Given the description of an element on the screen output the (x, y) to click on. 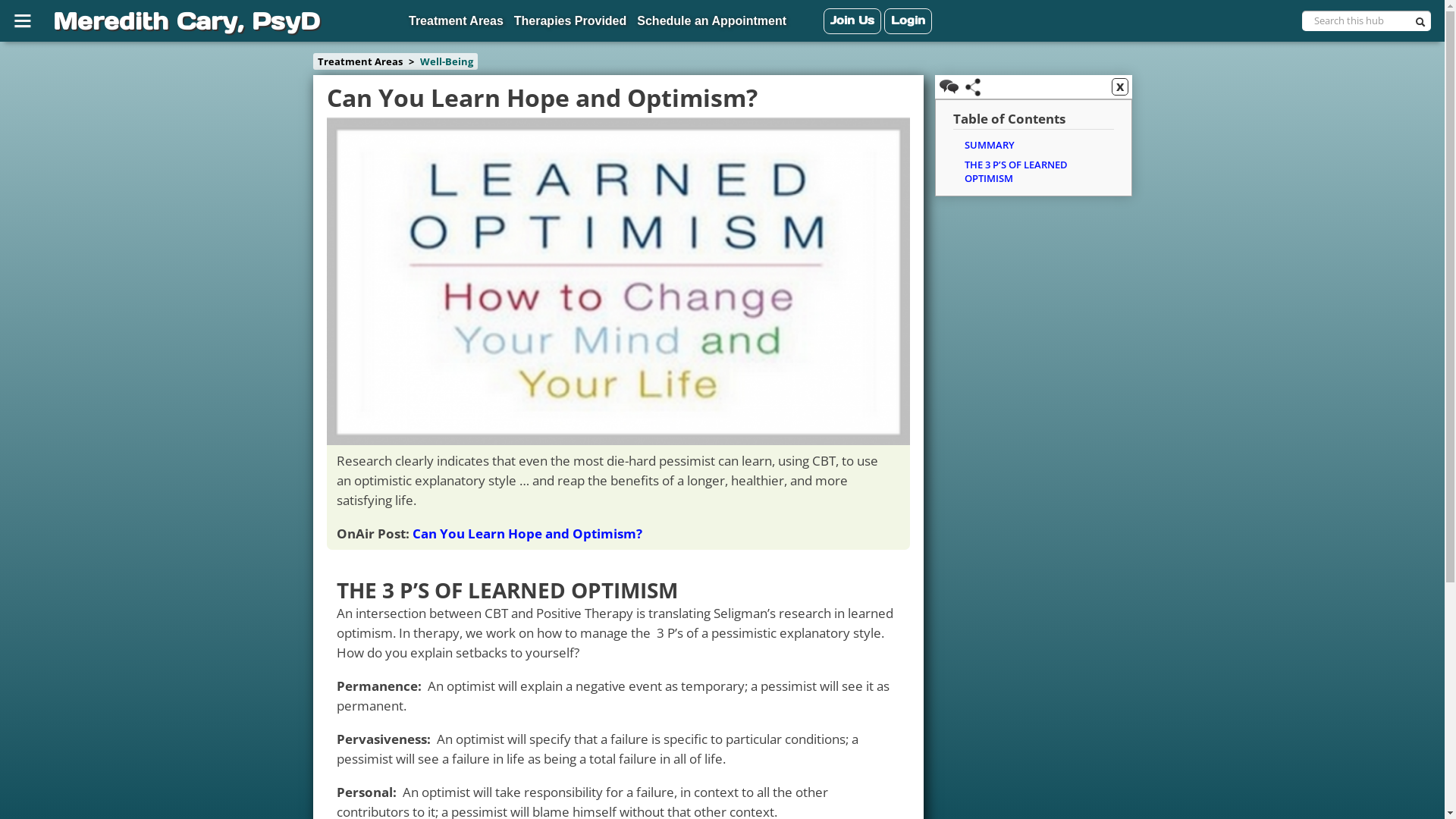
Schedule an Appointment Element type: text (711, 21)
Treatment Areas Element type: text (456, 21)
Well-Being Element type: text (446, 61)
SUMMARY Element type: text (989, 144)
Discuss Element type: hover (947, 86)
Share Post Element type: hover (972, 87)
Meredith Cary, PsyD Element type: text (183, 20)
Therapies Provided Element type: text (570, 21)
Can You Learn Hope and Optimism? Element type: text (527, 533)
Login Element type: text (907, 21)
Site Map Element type: hover (24, 20)
Search Element type: text (1422, 23)
Join Us Element type: text (852, 21)
